Given the description of an element on the screen output the (x, y) to click on. 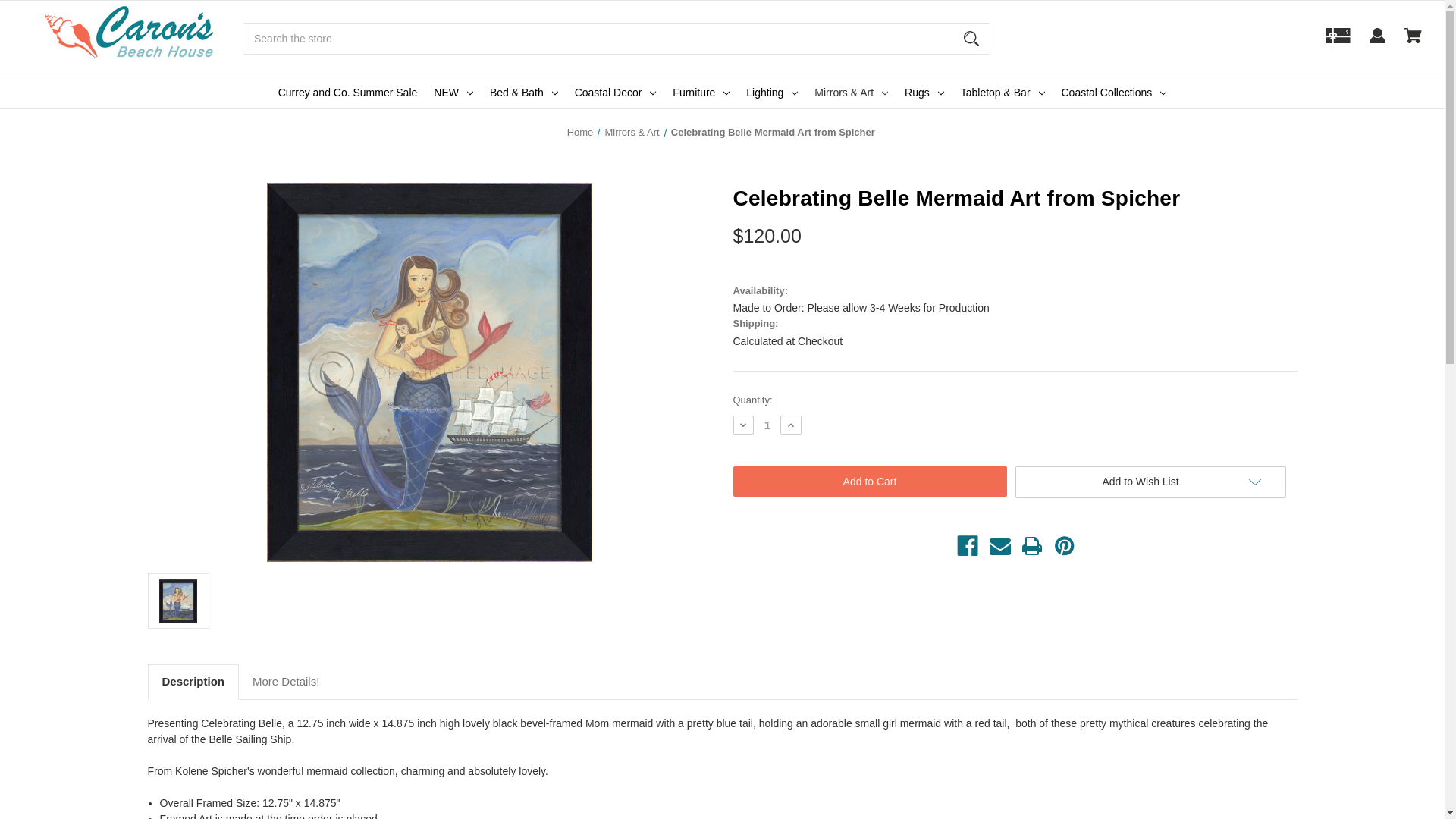
Email (1000, 545)
PayPal Message 1 (938, 270)
Add to Cart (869, 481)
Currey and Co. Summer Sale (347, 92)
GIFT CARD IMAGE LARGE SQUARE BLACK IMAGE WITH A BOW ONTOP (1337, 42)
GIFT CARD IMAGE LARGE SQUARE BLACK IMAGE WITH A BOW ONTOP (1337, 35)
Pinterest (1064, 545)
Print (1032, 545)
Caron's Beach House (128, 32)
MAGNIFYING GLASS IMAGE LARGE RED CIRCLE WITH A BLACK BORDER (970, 37)
NEW (453, 92)
Facebook (967, 545)
1 (767, 424)
Celebrating Belle Mermaid Art from Spicher (177, 600)
